Given the description of an element on the screen output the (x, y) to click on. 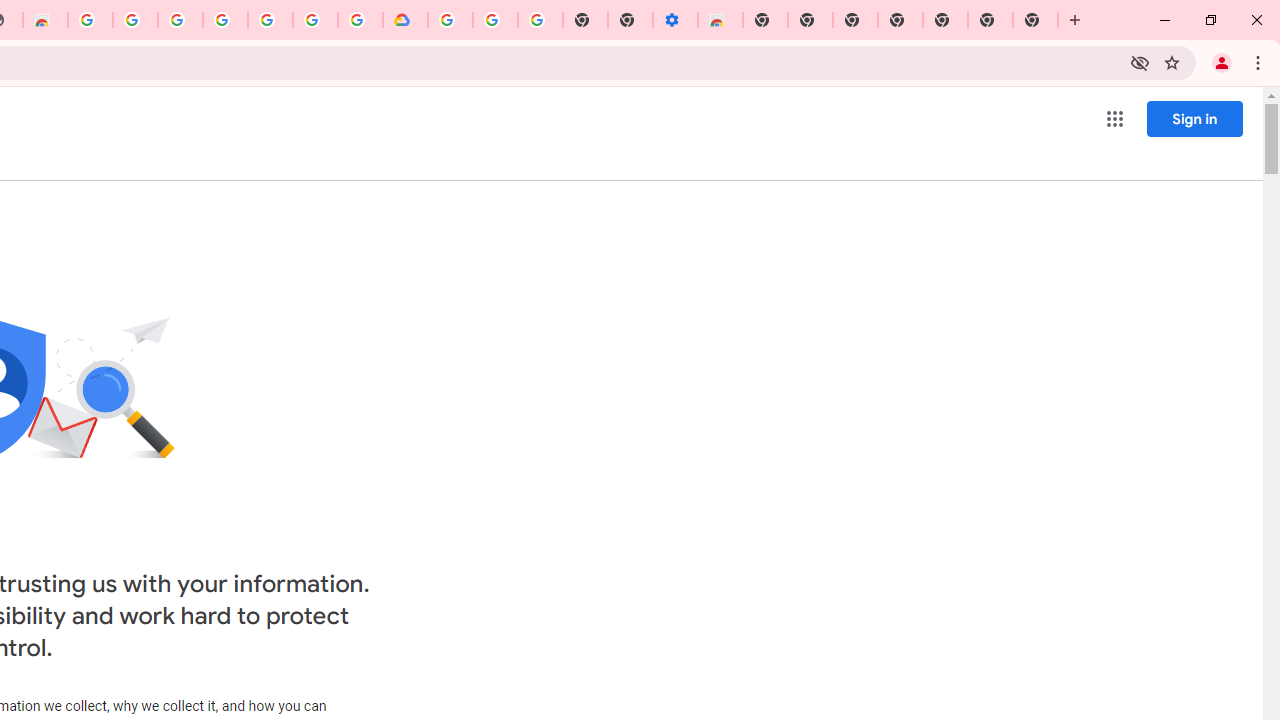
Turn cookies on or off - Computer - Google Account Help (540, 20)
New Tab (944, 20)
Chrome Web Store - Household (45, 20)
Ad Settings (134, 20)
New Tab (765, 20)
New Tab (1035, 20)
Sign in - Google Accounts (180, 20)
Sign in - Google Accounts (315, 20)
